Given the description of an element on the screen output the (x, y) to click on. 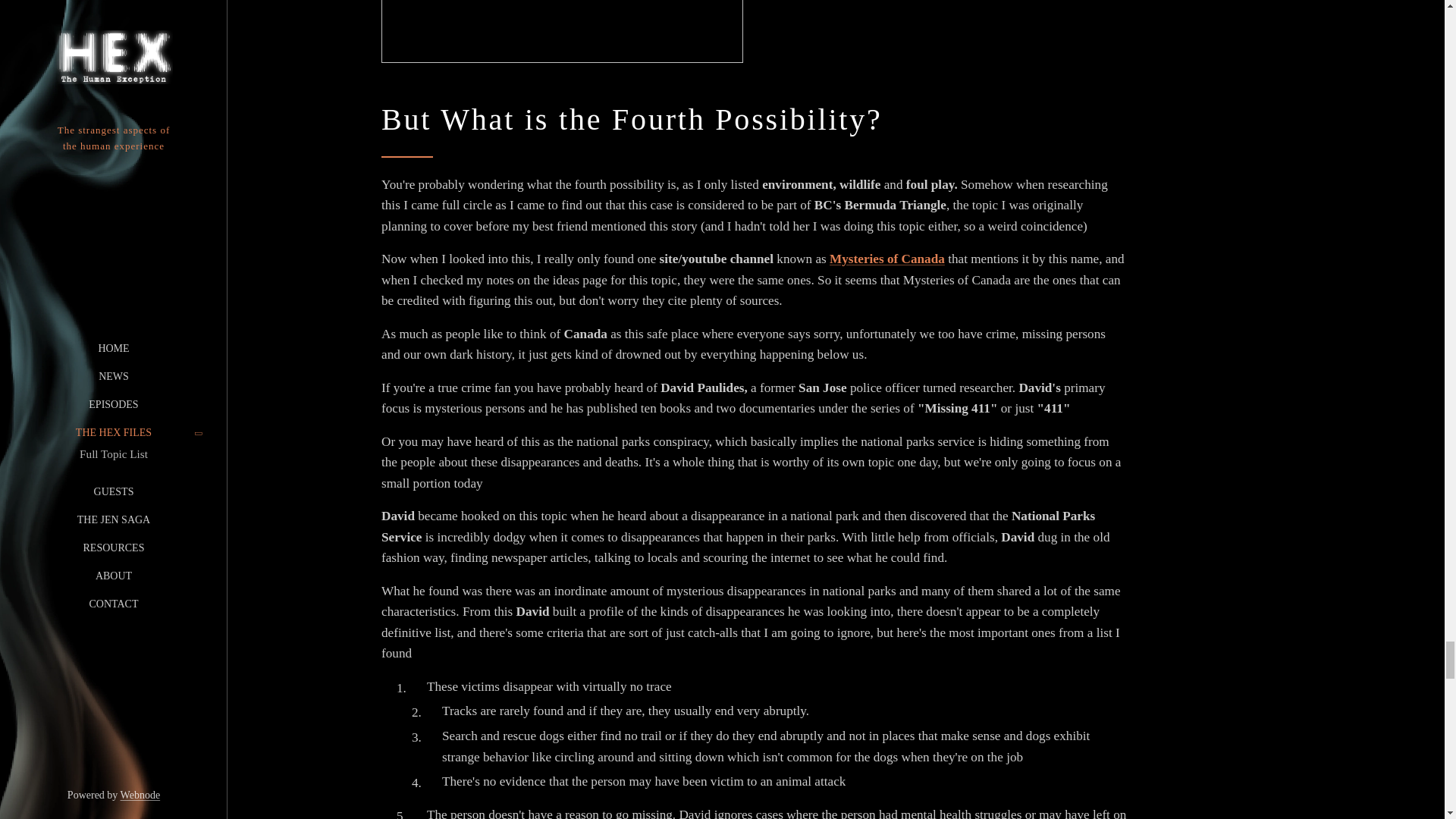
Mysteries of Canada (886, 259)
